Given the description of an element on the screen output the (x, y) to click on. 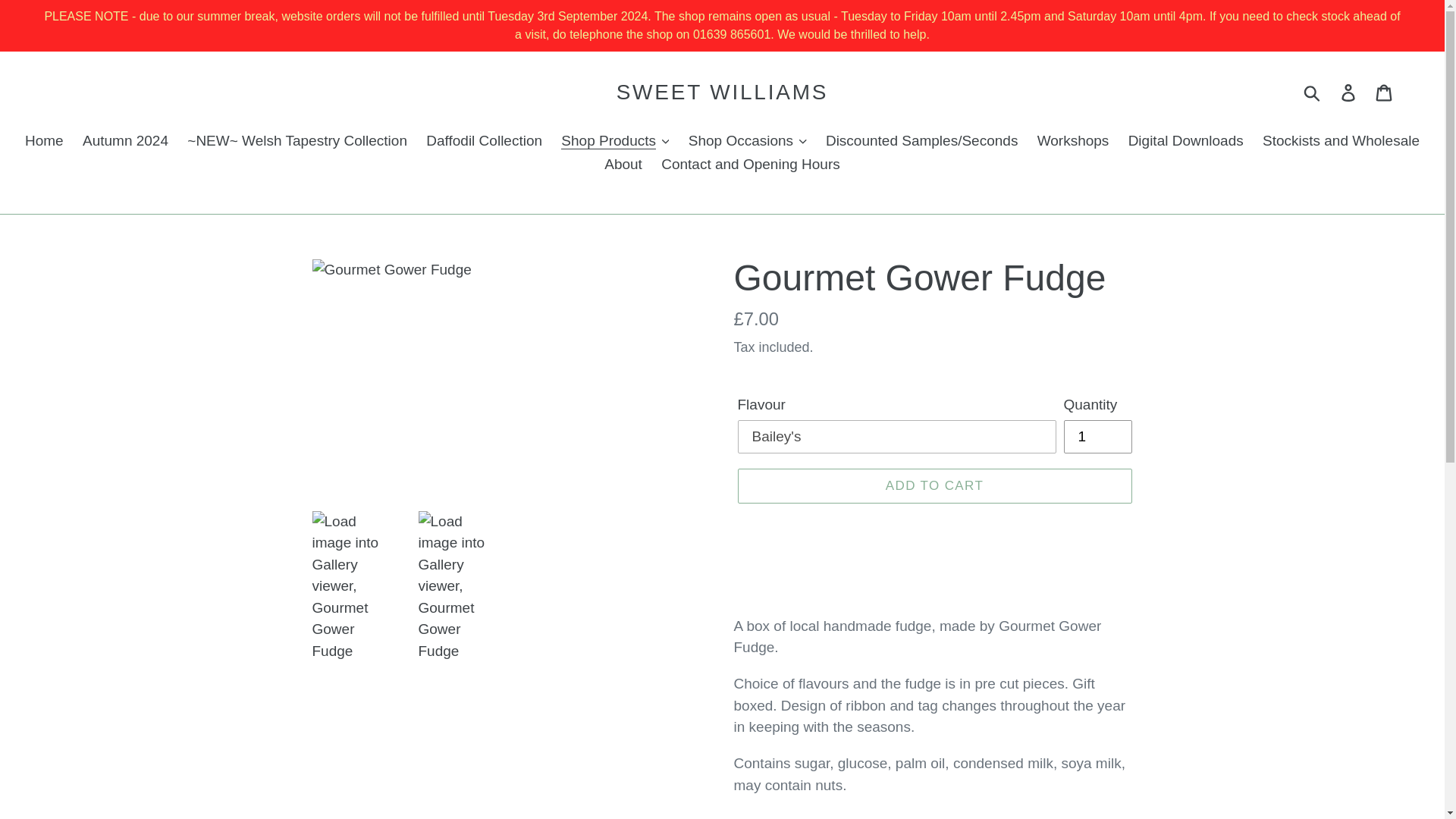
1 (1096, 437)
SWEET WILLIAMS (721, 92)
Log in (1349, 92)
Cart (1385, 92)
Submit (1313, 92)
